Given the description of an element on the screen output the (x, y) to click on. 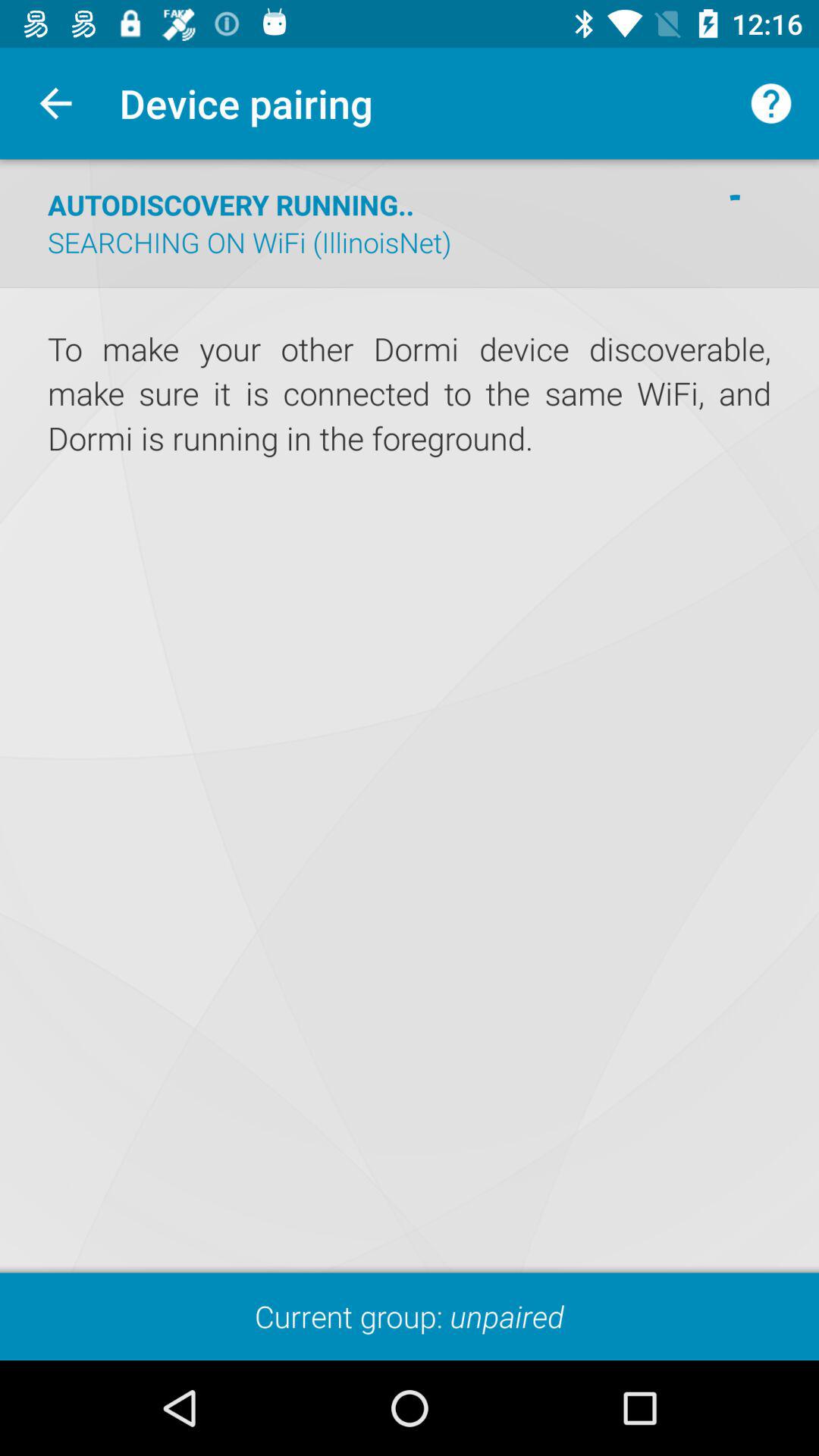
select the to make your (409, 394)
